Given the description of an element on the screen output the (x, y) to click on. 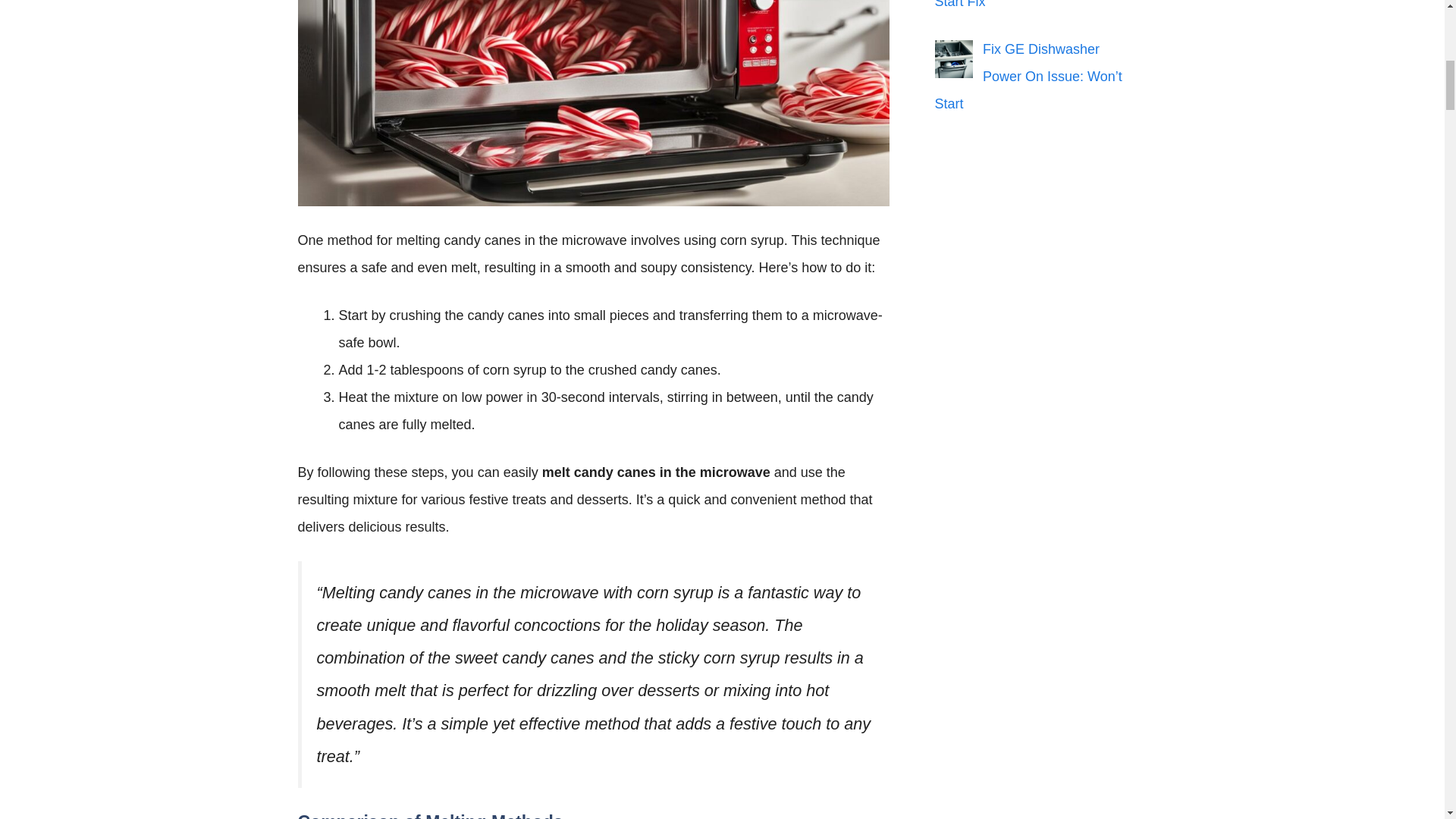
melt candy canes in the microwave (592, 103)
